Given the description of an element on the screen output the (x, y) to click on. 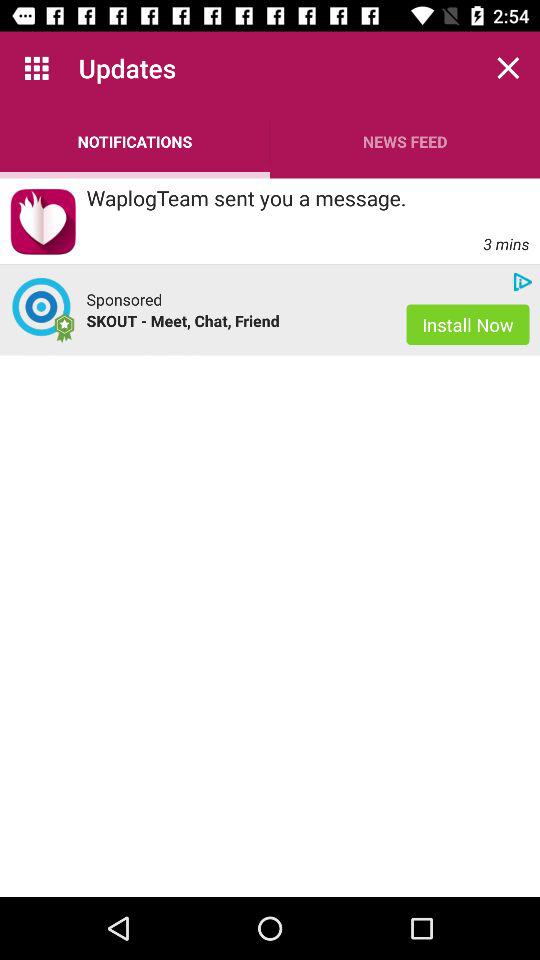
launch icon next to the install now item (235, 320)
